Given the description of an element on the screen output the (x, y) to click on. 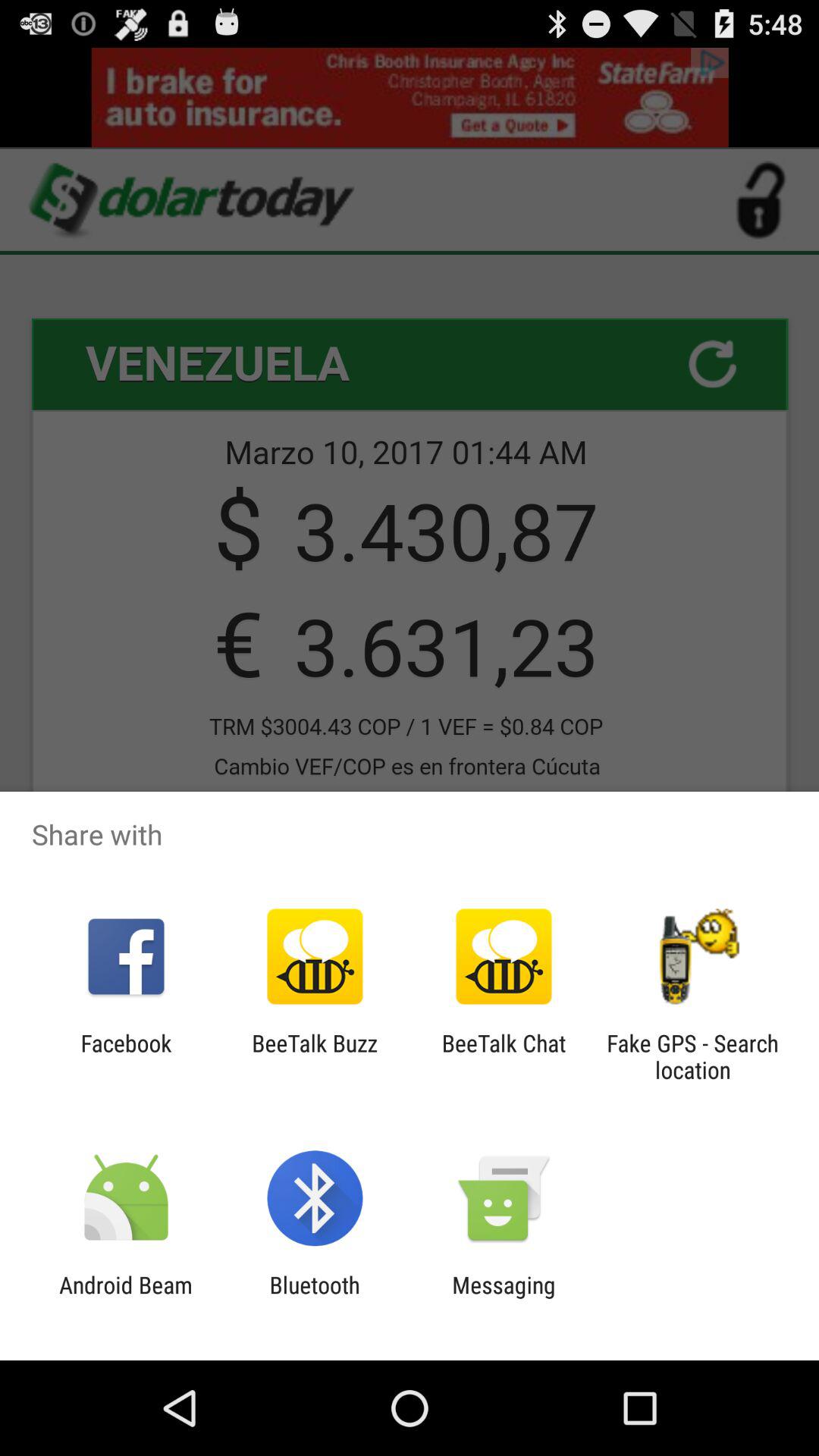
tap the icon to the right of bluetooth app (503, 1298)
